Given the description of an element on the screen output the (x, y) to click on. 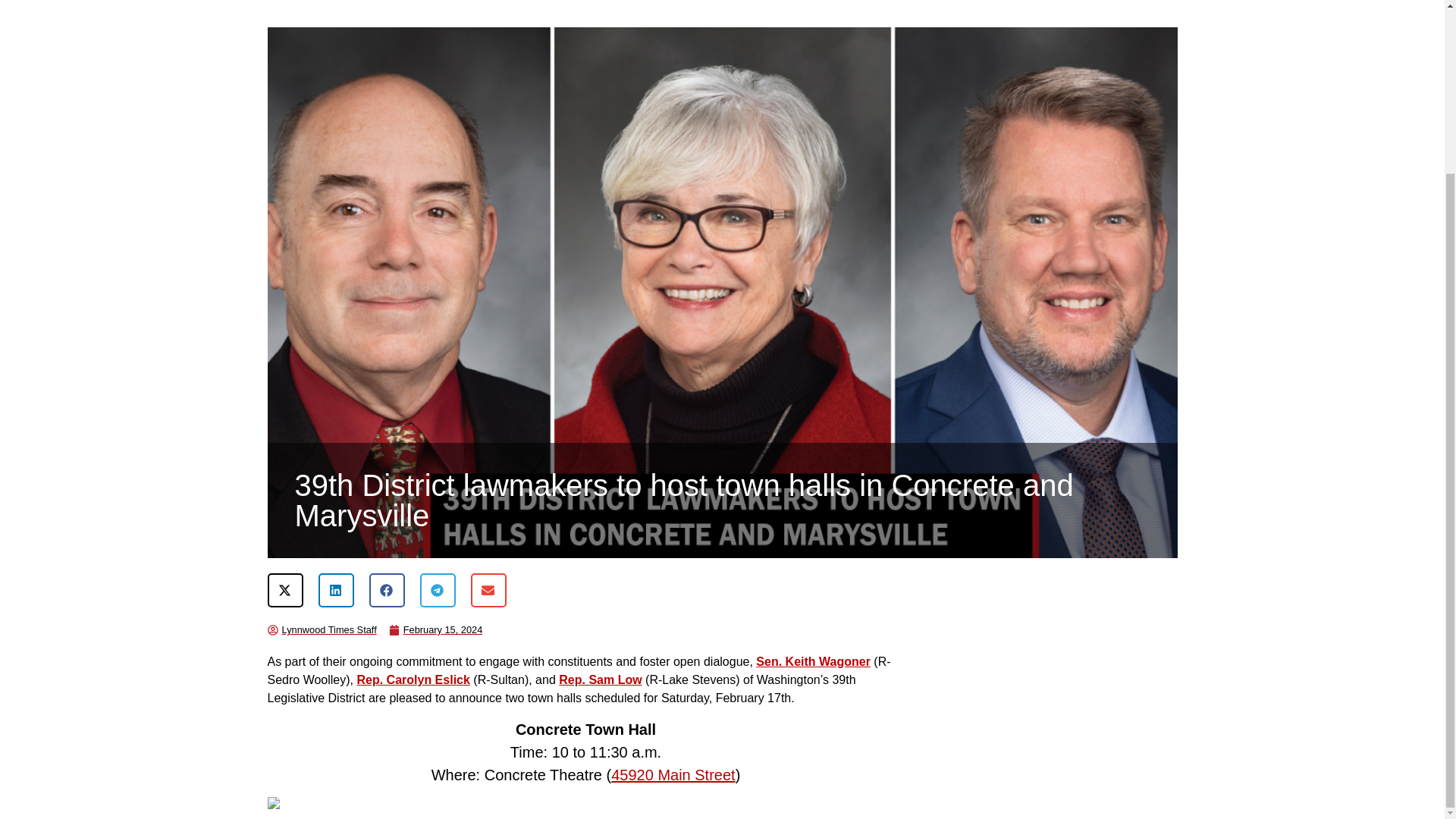
February 15, 2024 (435, 629)
Sen. Keith Wagoner (812, 661)
45920 Main Street (673, 774)
Rep. Carolyn Eslick (412, 679)
Lynnwood Times Staff (320, 629)
Rep. Sam Low (600, 679)
